Given the description of an element on the screen output the (x, y) to click on. 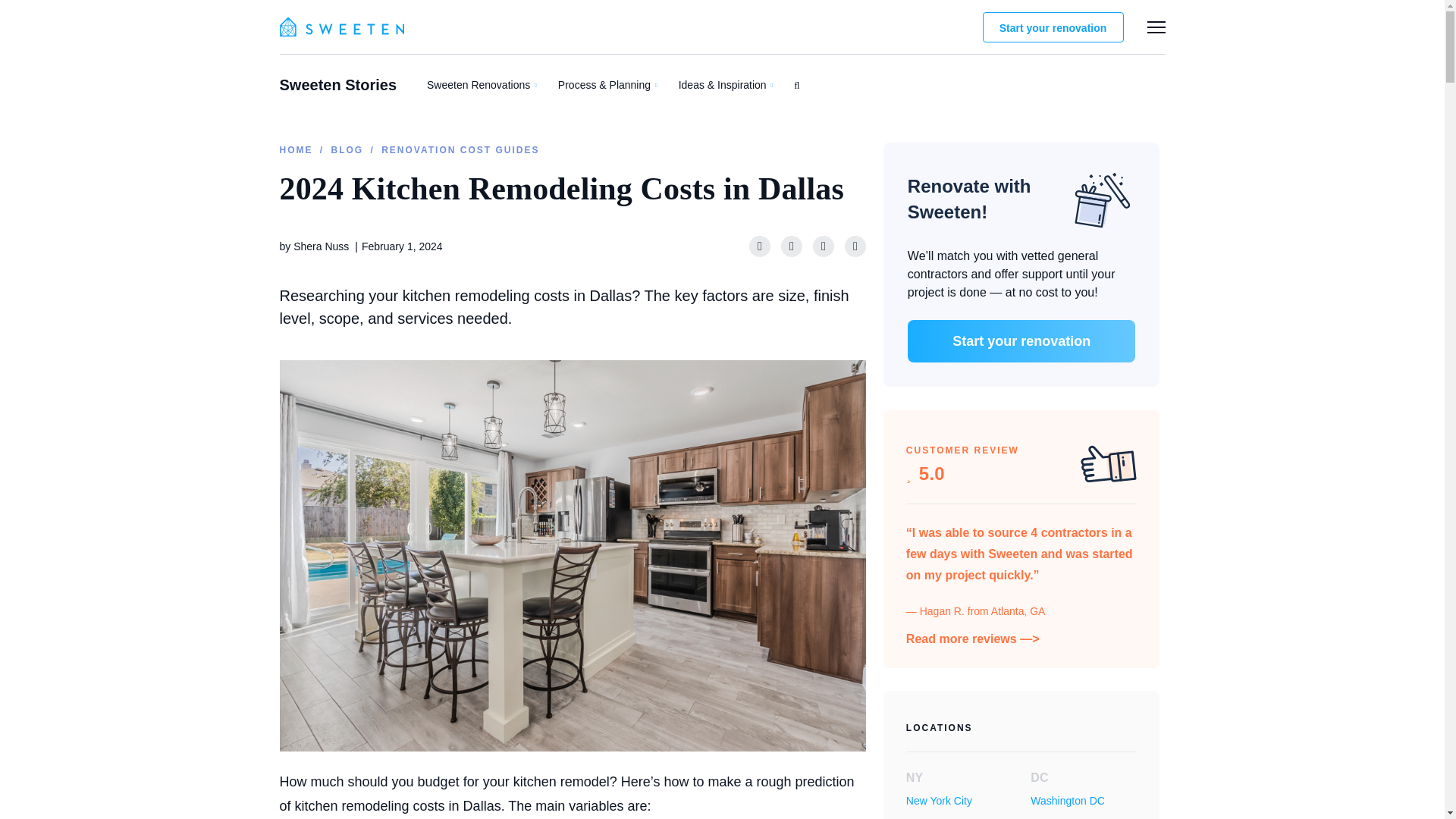
Renovation cost guides (717, 100)
More from Sweeten (1155, 27)
Start your renovation (1053, 27)
Sweeten Renovations (480, 84)
How Sweeten works (1238, 42)
Renovation conversations (837, 100)
Entire homes (586, 100)
Sweeten Stories (337, 84)
